Given the description of an element on the screen output the (x, y) to click on. 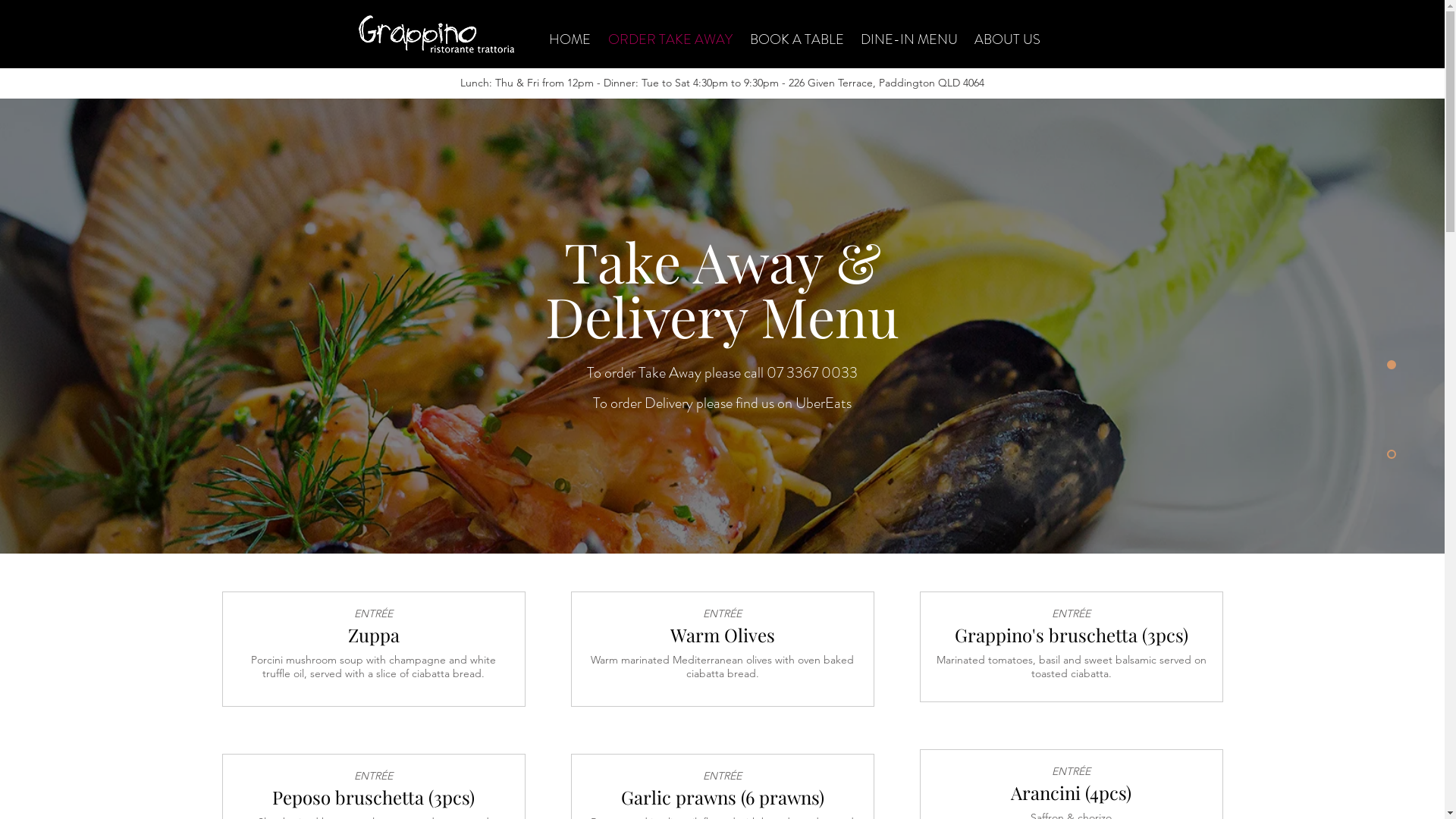
ABOUT US Element type: text (1007, 38)
07 3367 0033 Element type: text (811, 372)
DINE-IN MENU Element type: text (909, 38)
ORDER TAKE AWAY Element type: text (669, 38)
HOME Element type: text (569, 38)
BOOK A TABLE Element type: text (796, 38)
